Given the description of an element on the screen output the (x, y) to click on. 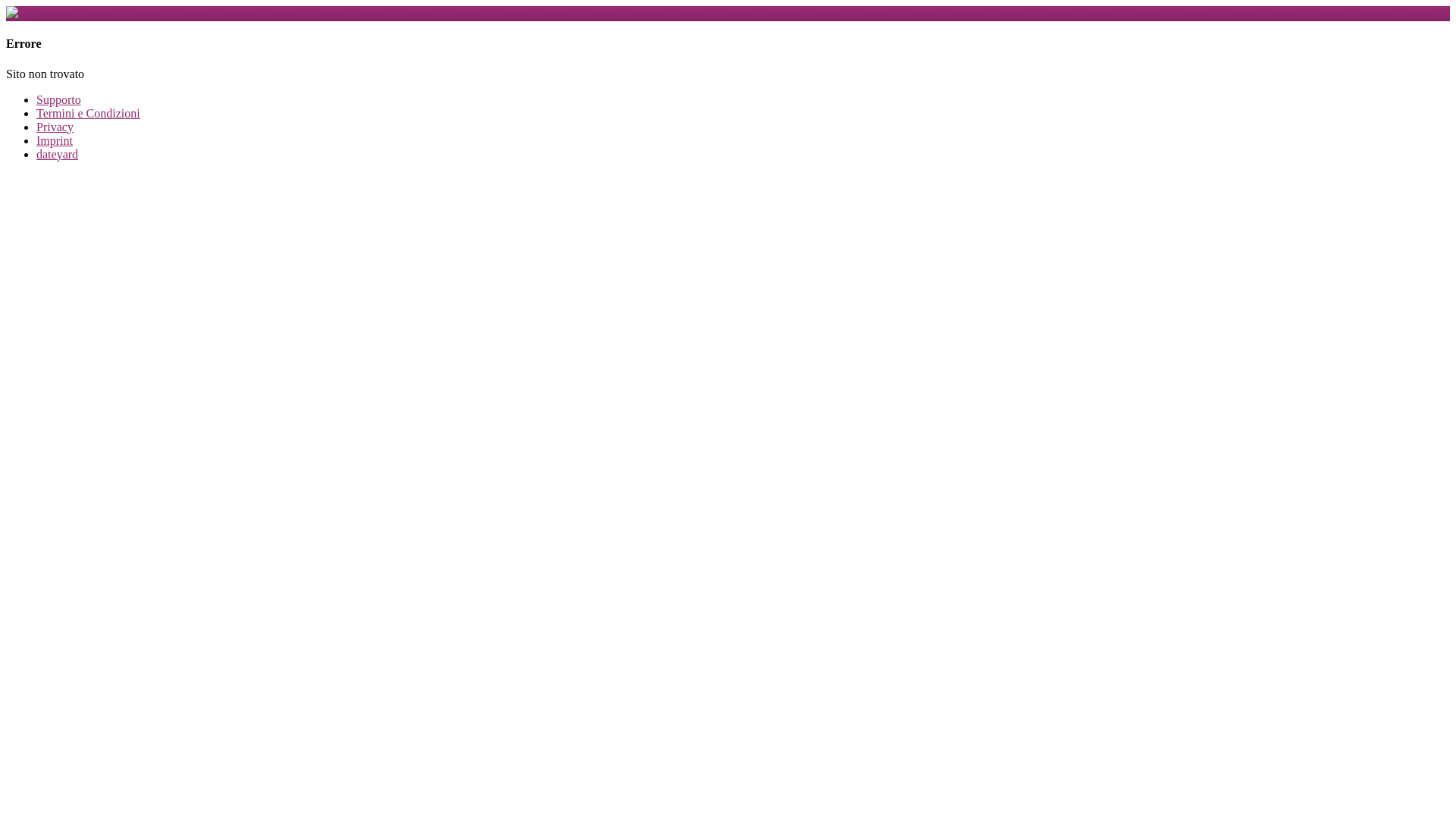
Termini e Condizioni Element type: text (88, 112)
Supporto Element type: text (58, 99)
Imprint Element type: text (54, 140)
Privacy Element type: text (54, 126)
dateyard Element type: text (57, 153)
